Given the description of an element on the screen output the (x, y) to click on. 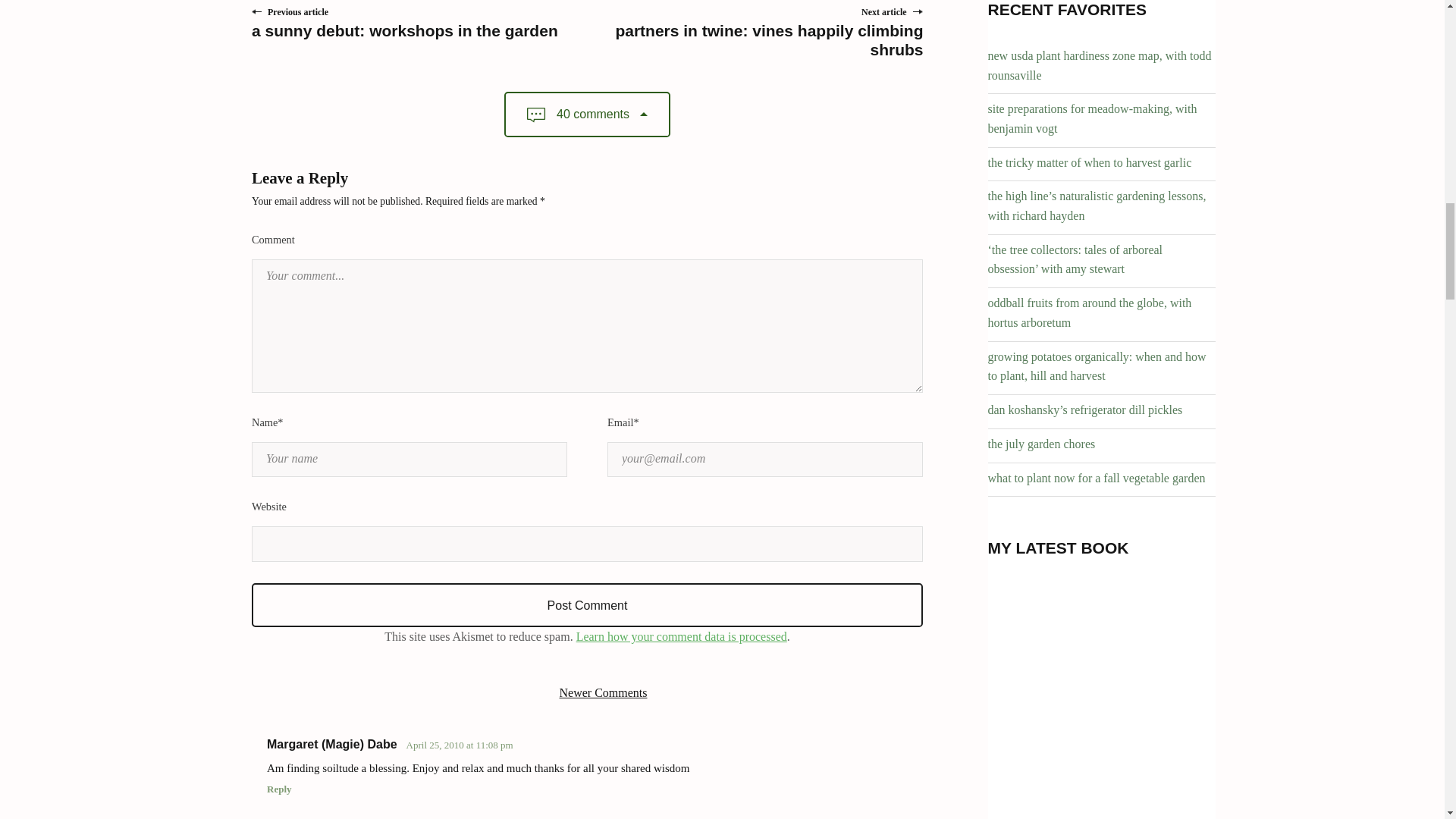
partners in twine: vines happily climbing shrubs (768, 40)
April 25, 2010 at 11:08 pm (459, 745)
Newer Comments (603, 692)
Reply (477, 788)
a sunny debut: workshops in the garden (404, 30)
